Given the description of an element on the screen output the (x, y) to click on. 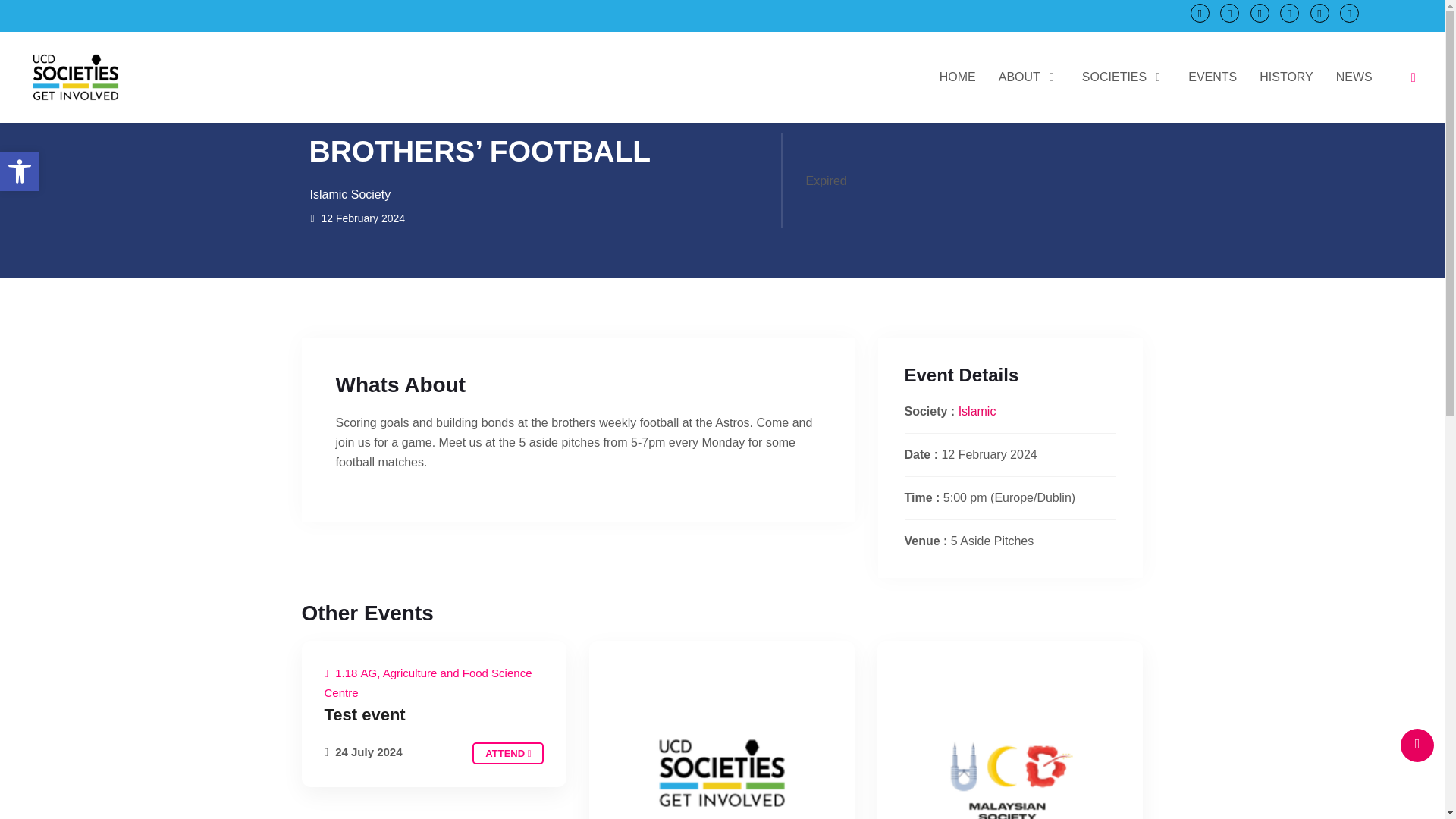
SOCIETIES (1123, 76)
Test event (507, 753)
Accessibility Tools (19, 170)
ABOUT (1028, 76)
HOME (19, 170)
Accessibility Tools (957, 76)
